Given the description of an element on the screen output the (x, y) to click on. 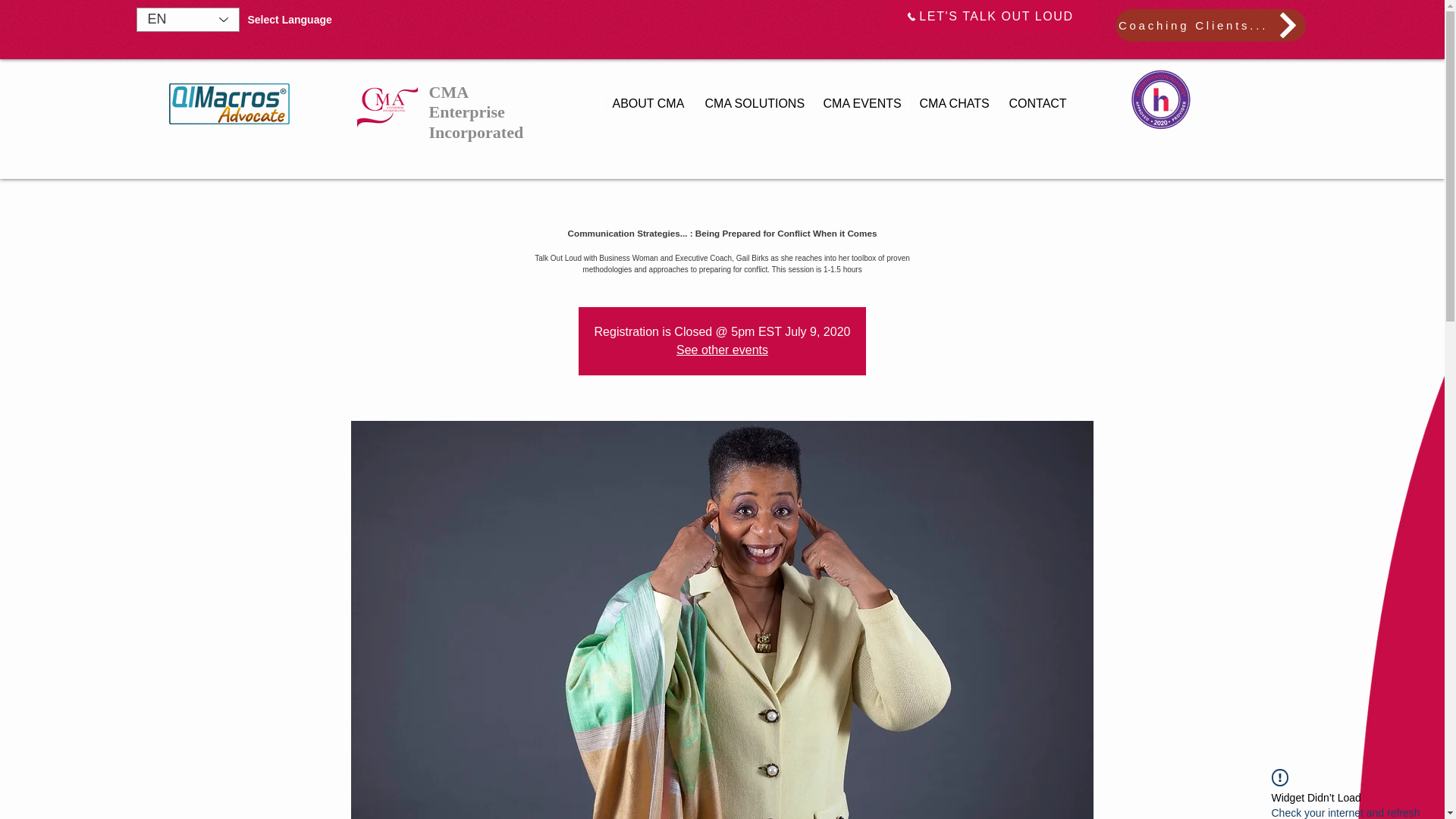
See other events (722, 349)
ABOUT CMA (646, 103)
CMA EVENTS (858, 103)
CMA CHATS (951, 103)
CONTACT (1034, 103)
CMA Enterprise Incorporated (476, 111)
CMA SOLUTIONS (751, 103)
LET'S TALK OUT LOUD (989, 16)
Coaching Clients... (1209, 25)
